Given the description of an element on the screen output the (x, y) to click on. 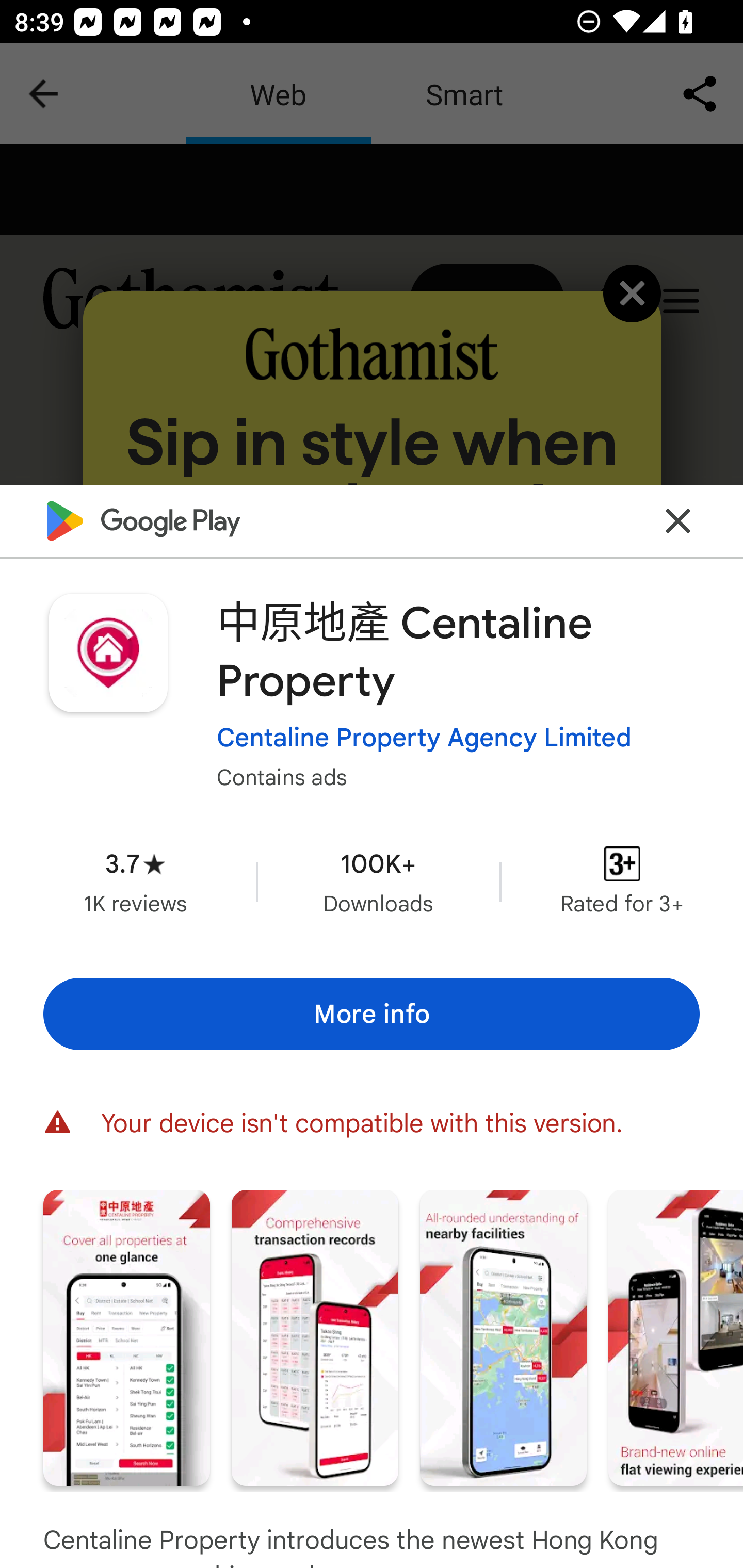
Close (677, 520)
Centaline Property Agency Limited (423, 737)
More info (371, 1014)
Screenshot "1" of "8" (126, 1338)
Screenshot "2" of "8" (314, 1338)
Screenshot "3" of "8" (502, 1338)
Screenshot "4" of "8" (675, 1338)
